Given the description of an element on the screen output the (x, y) to click on. 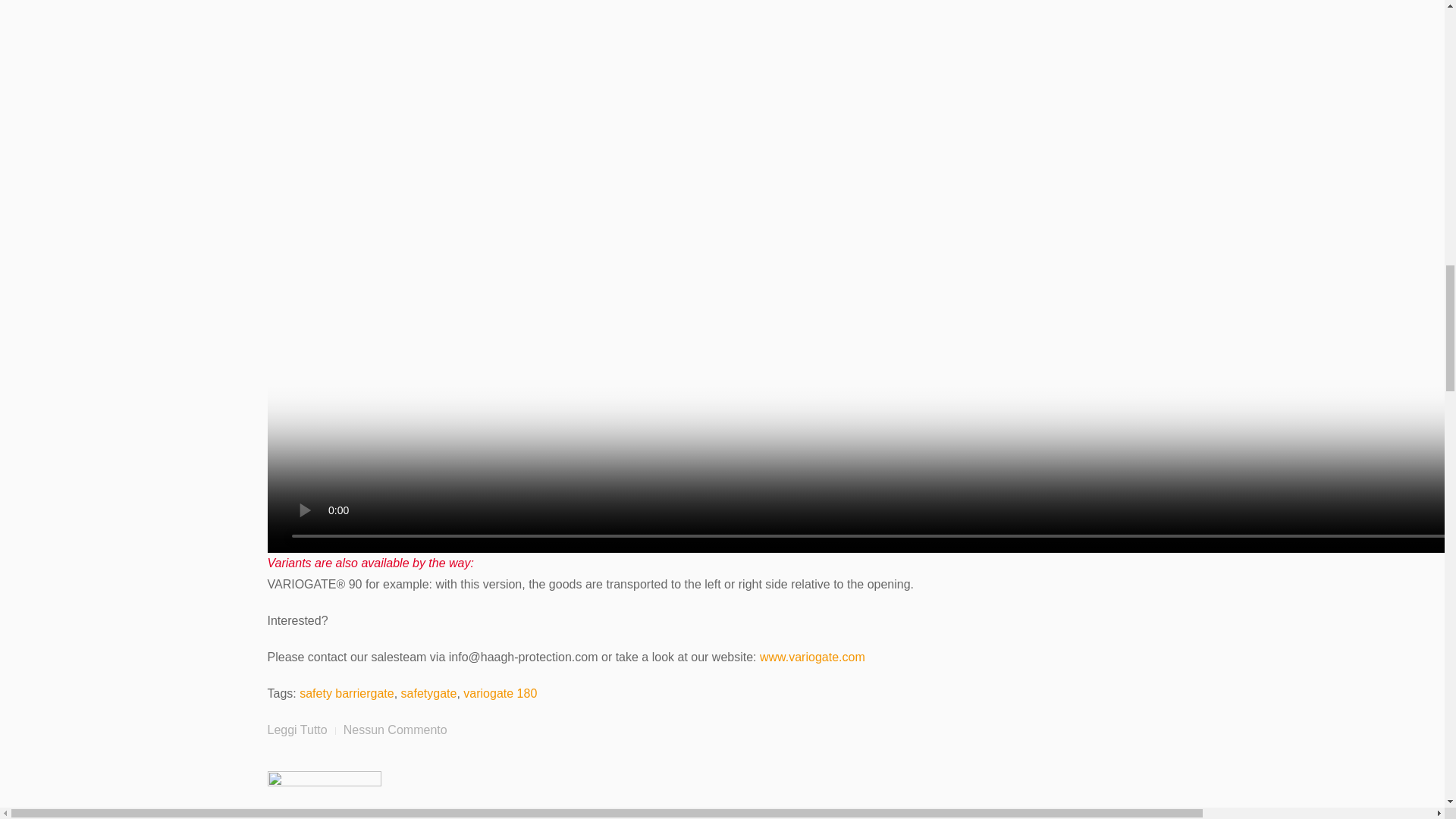
Leggi Tutto (296, 730)
Variogate 180 safety palletgate system -DDM (296, 730)
variogate 180 (500, 693)
safetygate (429, 693)
www.variogate.com (812, 656)
Nessun Commento (394, 730)
safety barriergate (346, 693)
